Given the description of an element on the screen output the (x, y) to click on. 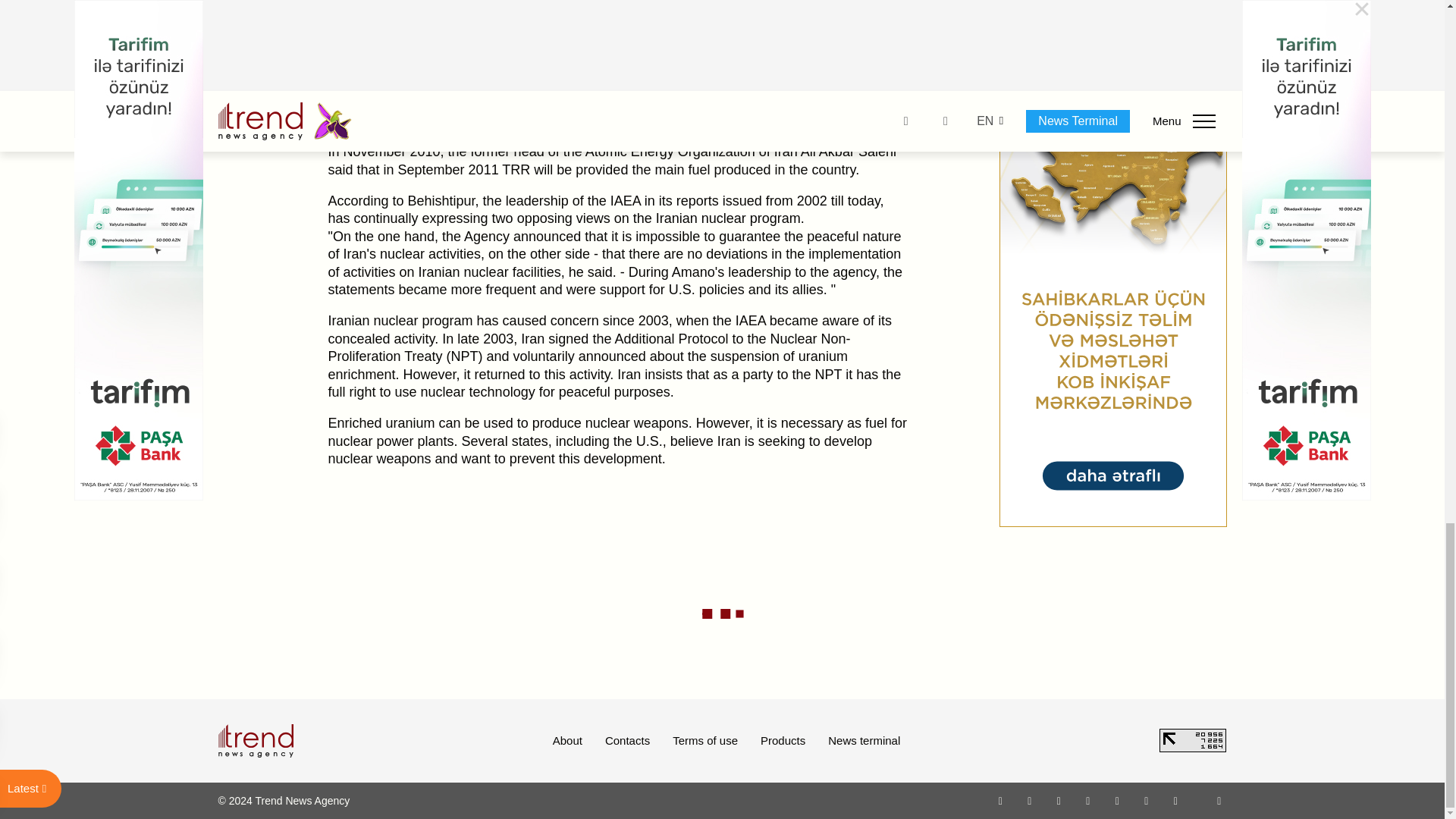
Whatsapp (1000, 800)
Twitter (1059, 800)
Youtube (1088, 800)
Android App (1176, 800)
RSS Feed (1219, 800)
Facebook (1029, 800)
Telegram (1117, 800)
LinkedIn (1146, 800)
